Given the description of an element on the screen output the (x, y) to click on. 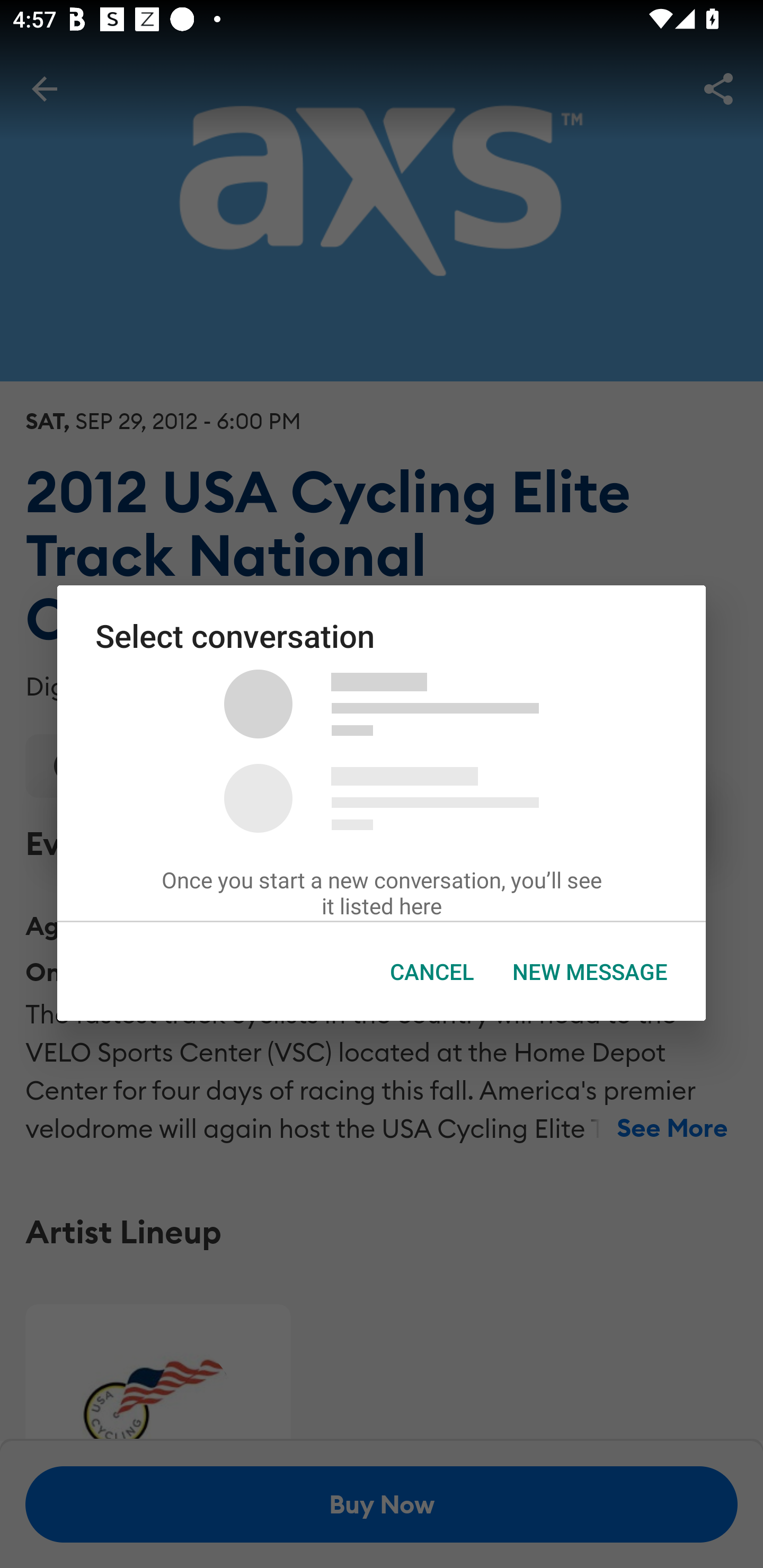
CANCEL (431, 971)
NEW MESSAGE (589, 971)
